Given the description of an element on the screen output the (x, y) to click on. 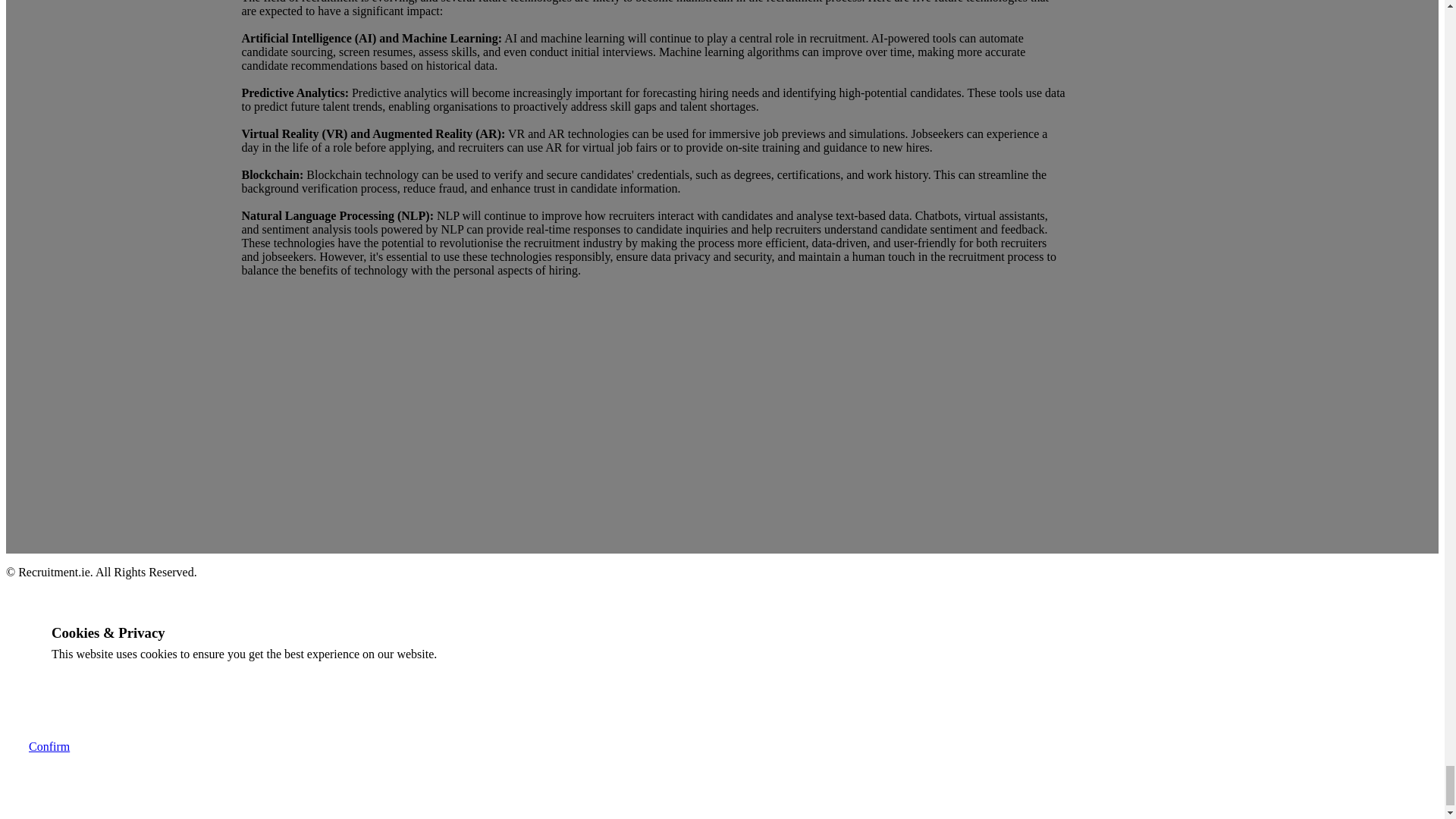
Confirm (49, 746)
